Given the description of an element on the screen output the (x, y) to click on. 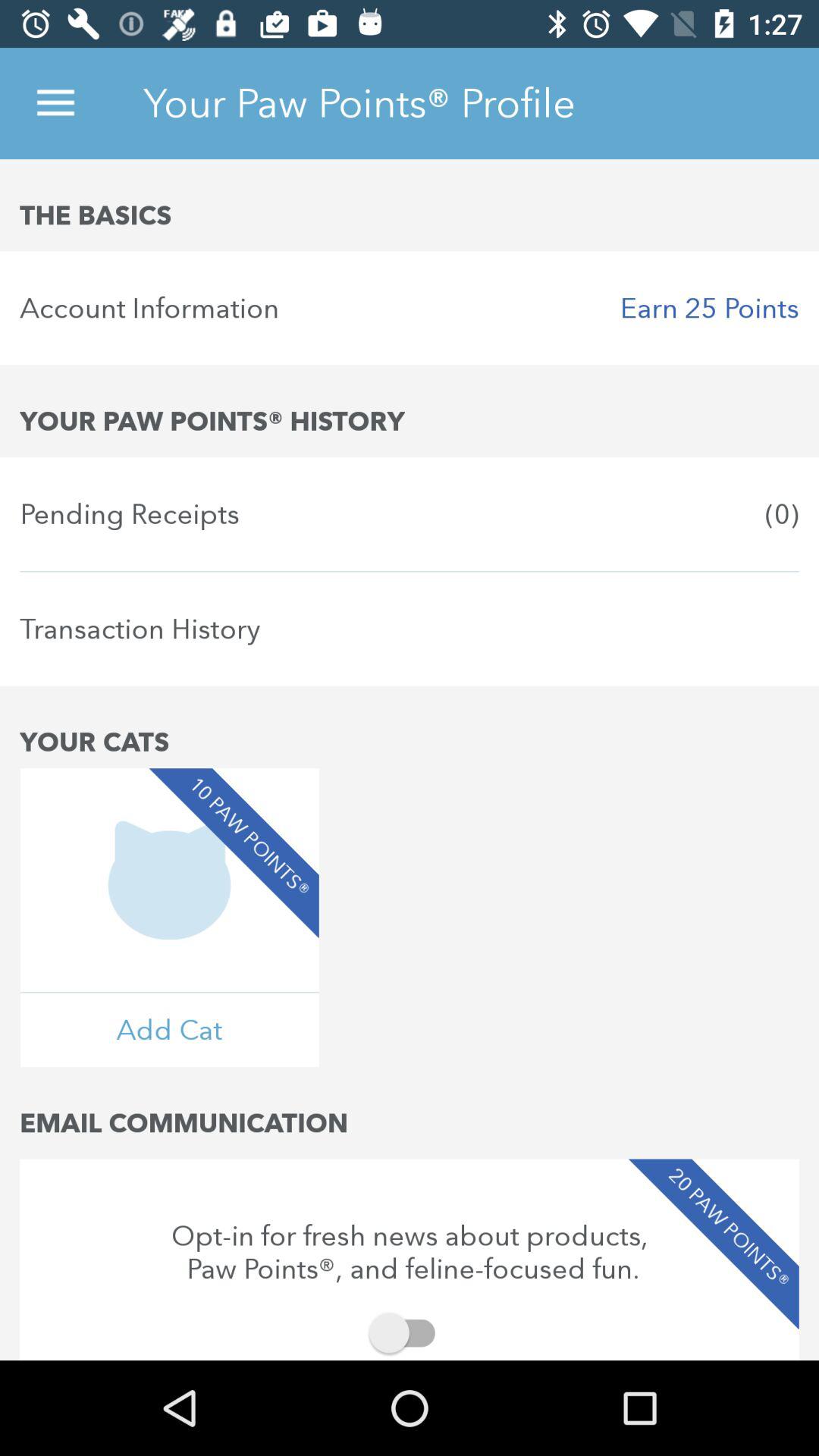
launch the transaction history icon (409, 628)
